Given the description of an element on the screen output the (x, y) to click on. 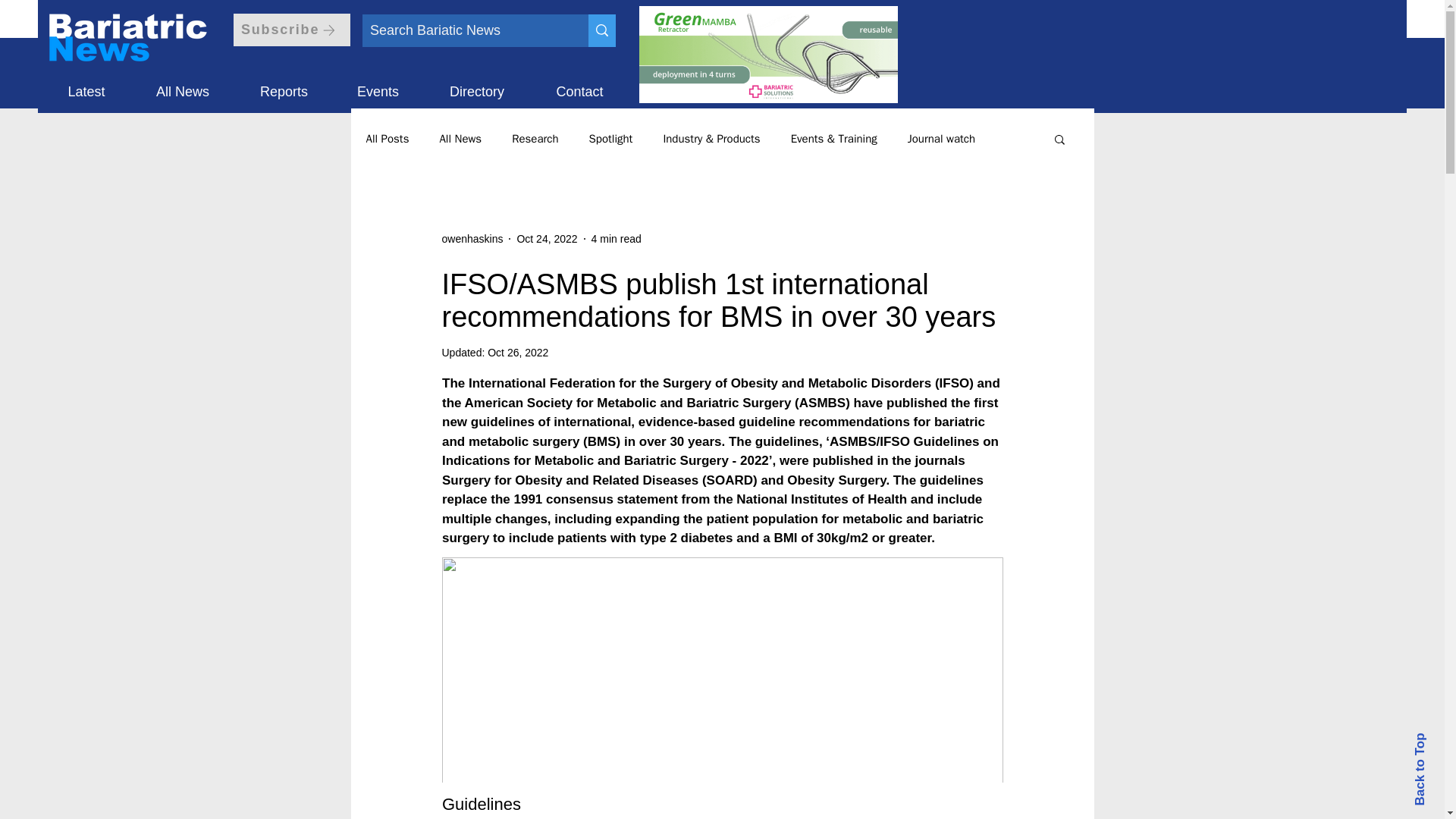
Oct 26, 2022 (517, 352)
All Posts (387, 138)
Journal watch (941, 138)
Spotlight (611, 138)
Events (378, 85)
Contact (579, 85)
All News (182, 85)
Directory (477, 85)
Subscribe (291, 29)
4 min read (616, 237)
Oct 24, 2022 (546, 237)
Reports (283, 85)
Research (534, 138)
All News (460, 138)
owenhaskins (471, 238)
